Given the description of an element on the screen output the (x, y) to click on. 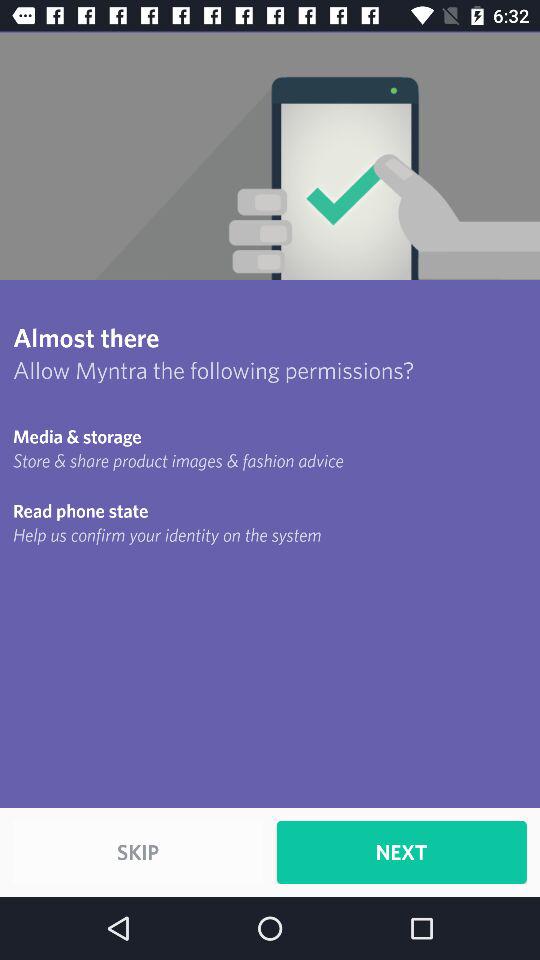
open item at the bottom right corner (401, 851)
